Given the description of an element on the screen output the (x, y) to click on. 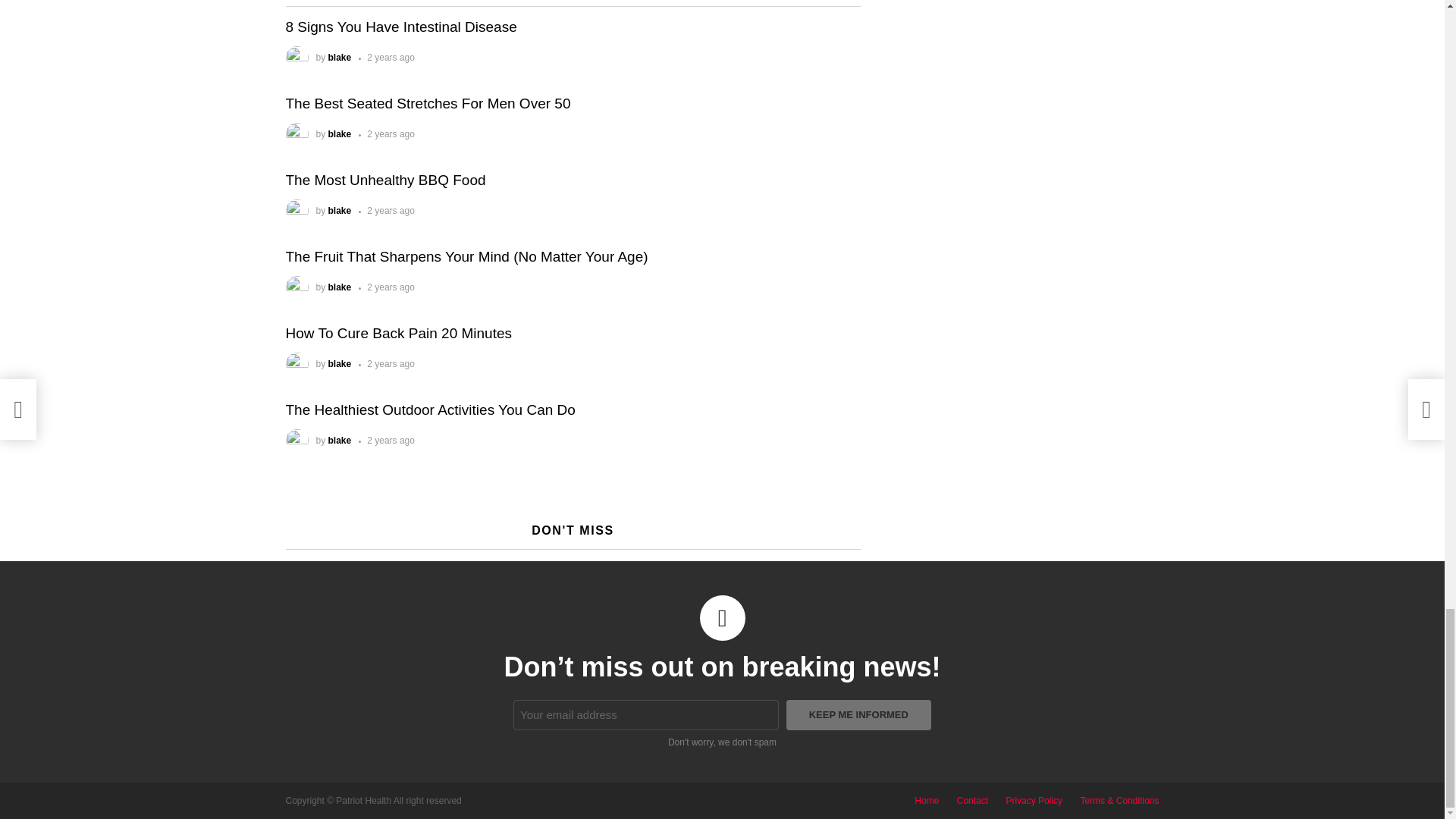
Posts by blake (340, 57)
Posts by blake (340, 210)
Posts by blake (340, 439)
Posts by blake (340, 363)
Posts by blake (340, 133)
Posts by blake (340, 286)
KEEP ME INFORMED (858, 715)
